Given the description of an element on the screen output the (x, y) to click on. 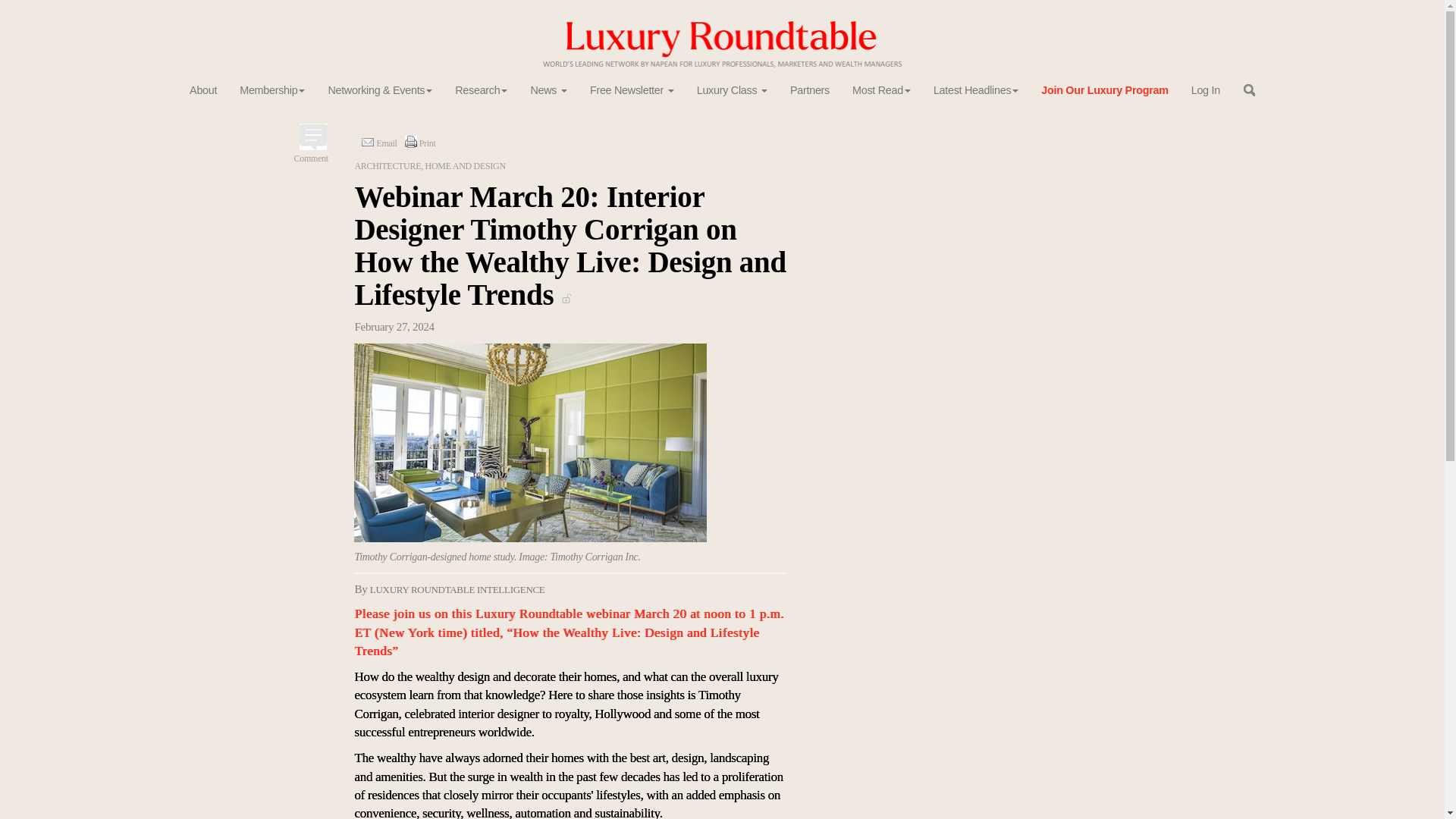
About (203, 90)
Membership (272, 90)
Research (480, 90)
